Given the description of an element on the screen output the (x, y) to click on. 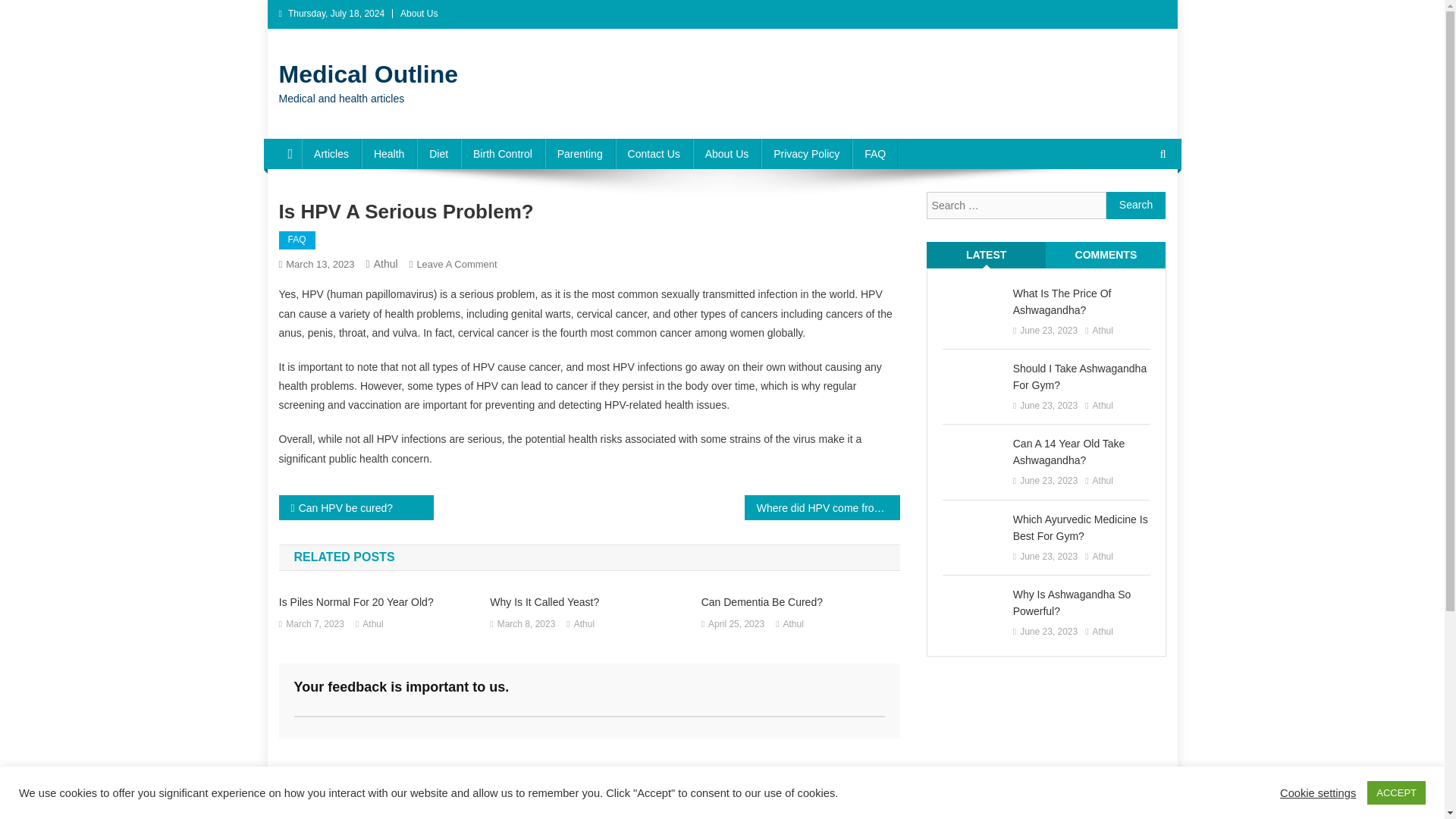
Privacy Policy (806, 153)
Search (1136, 205)
Where did HPV come from? (821, 507)
Diet (438, 153)
Search (1136, 205)
Search (1133, 204)
Athul (385, 263)
Search (1136, 205)
Can Dementia Be Cured? (800, 601)
About Us (727, 153)
March 7, 2023 (314, 624)
FAQ (297, 239)
March 13, 2023 (456, 264)
Athul (319, 264)
